Given the description of an element on the screen output the (x, y) to click on. 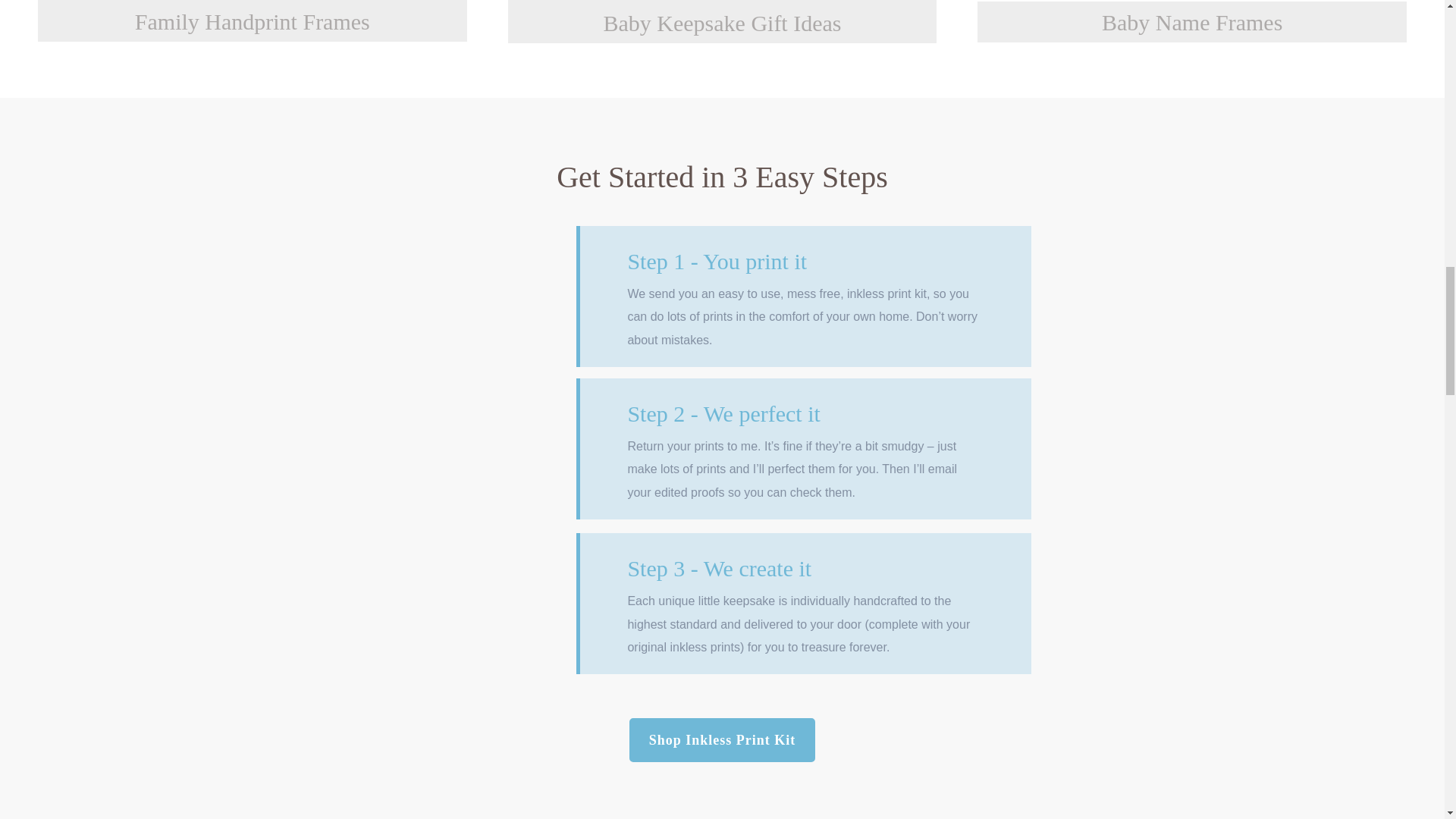
No Fuss Square (1203, 798)
Step 1: You Print It (477, 297)
No INk Square (240, 798)
No paint Square (721, 798)
Stpe 2: We Perfect It (470, 443)
Step 3: We create it (470, 597)
